Given the description of an element on the screen output the (x, y) to click on. 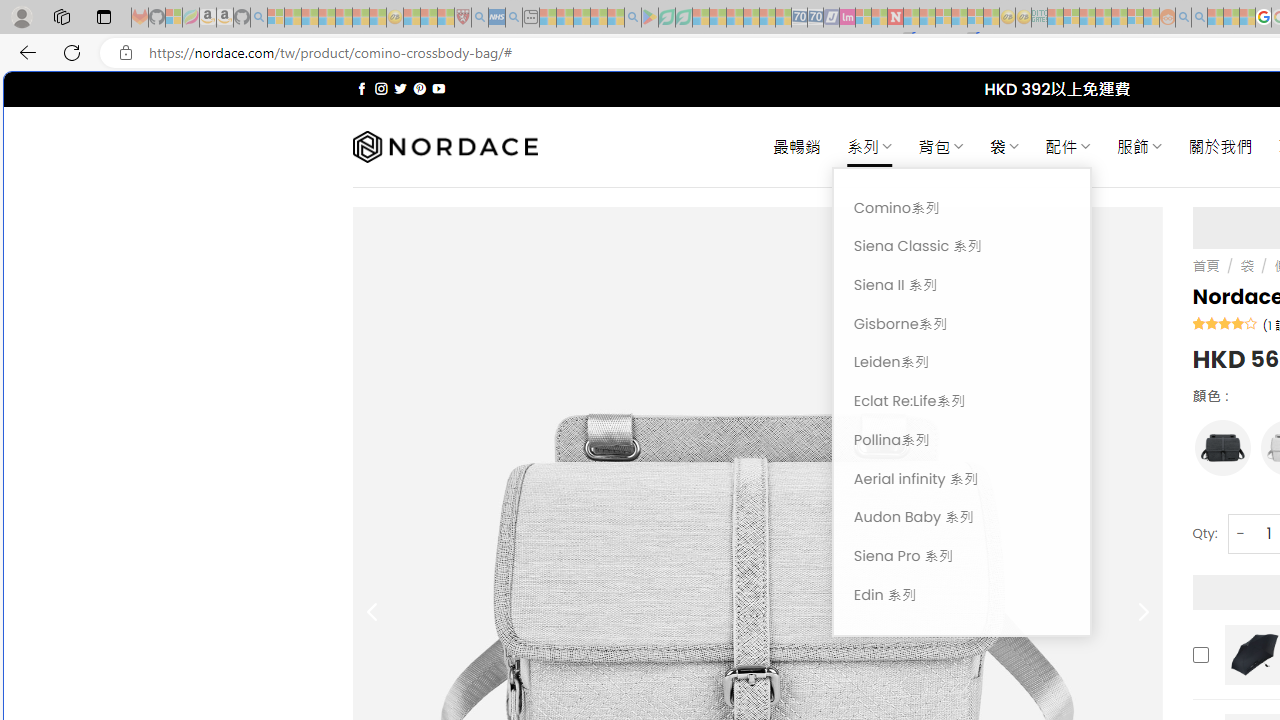
Local - MSN - Sleeping (445, 17)
Cheap Car Rentals - Save70.com - Sleeping (799, 17)
Nordace (444, 147)
